Given the description of an element on the screen output the (x, y) to click on. 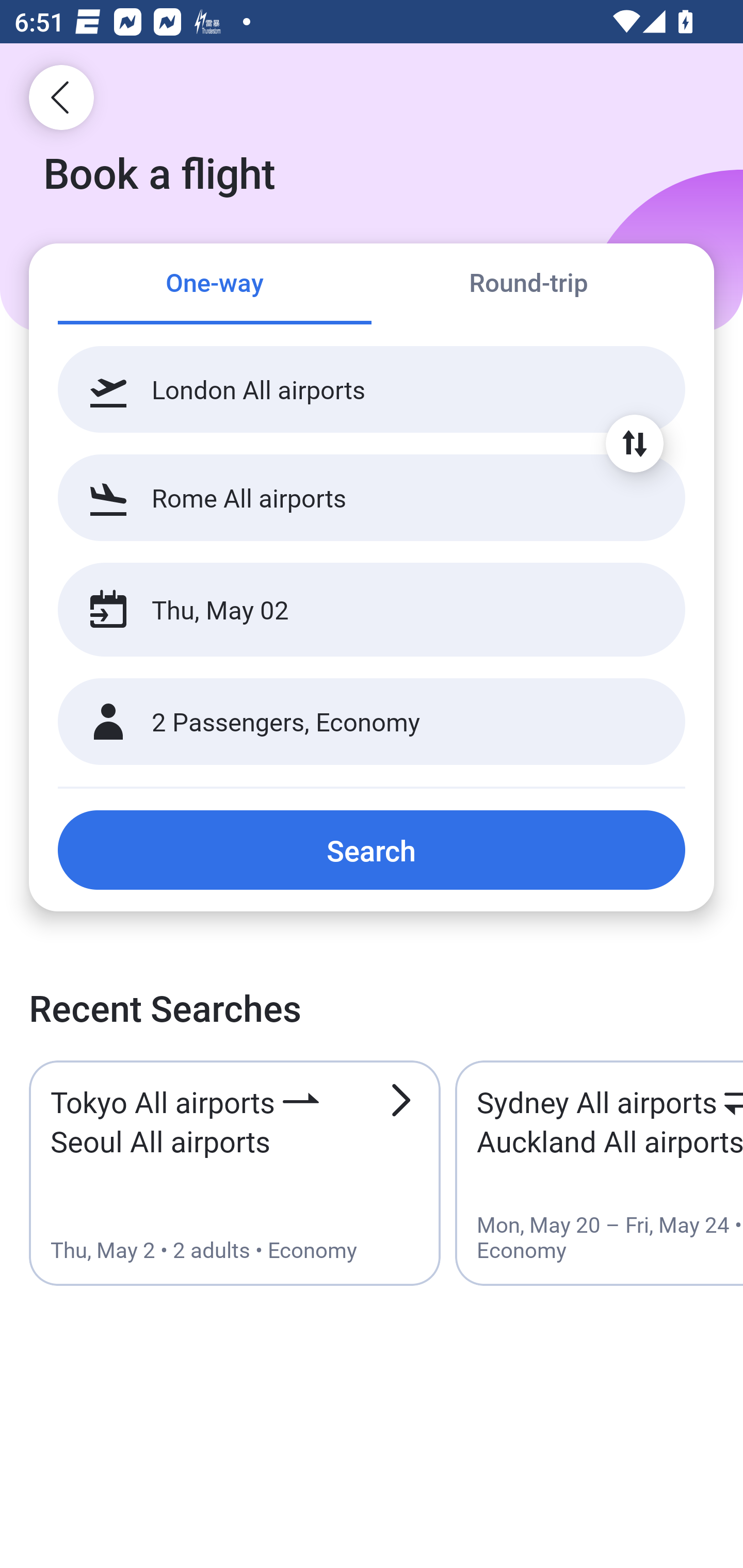
Round-trip (528, 284)
London All airports (371, 389)
Rome All airports (371, 497)
Thu, May 02 (349, 609)
2 Passengers, Economy (371, 721)
Search (371, 849)
